Given the description of an element on the screen output the (x, y) to click on. 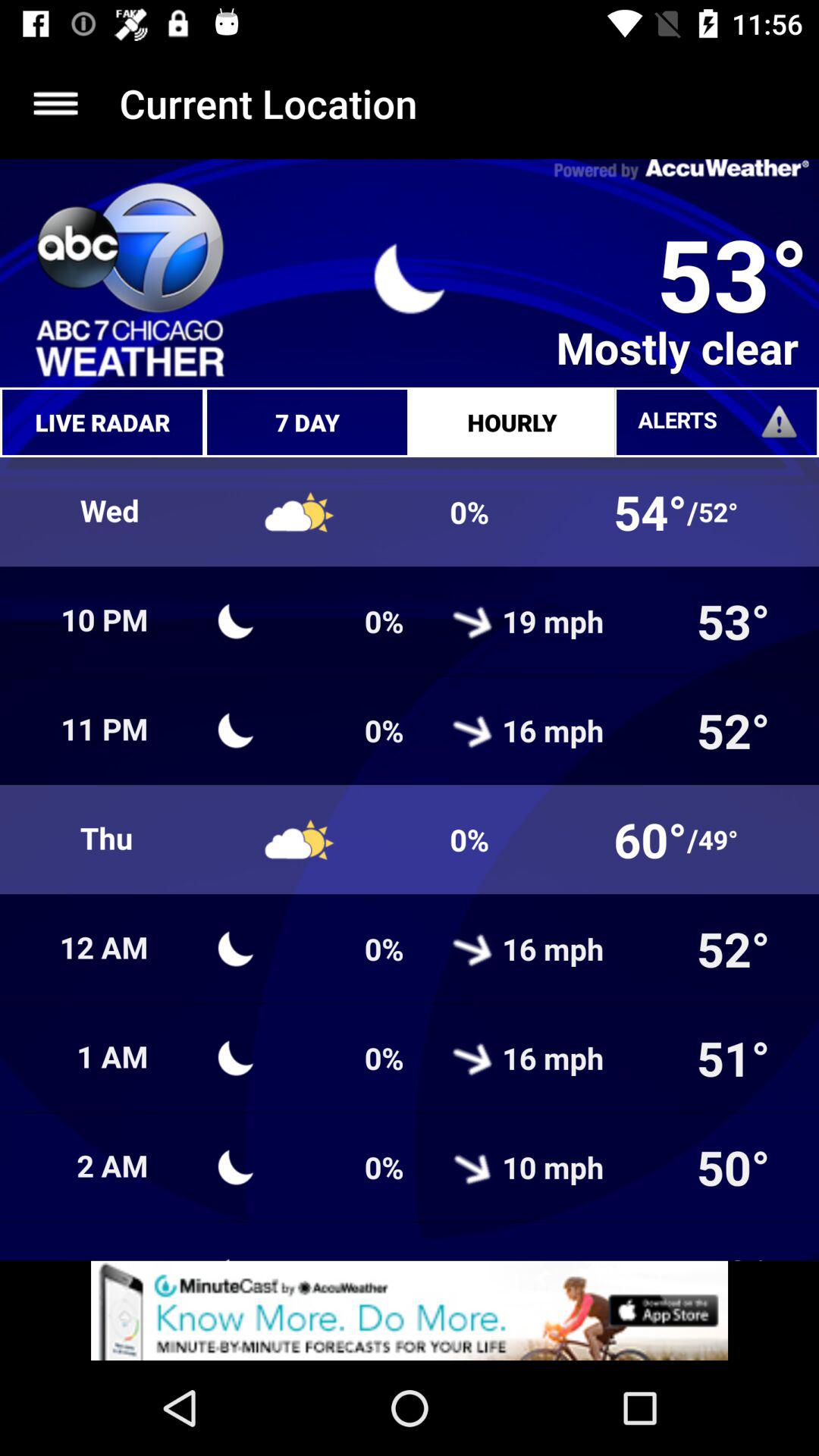
select 7 day which is above climate symbol (306, 422)
click on the symbol which is right hand side of wed (299, 512)
select the symbol which is to the immediate left of 53 degrees (409, 278)
